Given the description of an element on the screen output the (x, y) to click on. 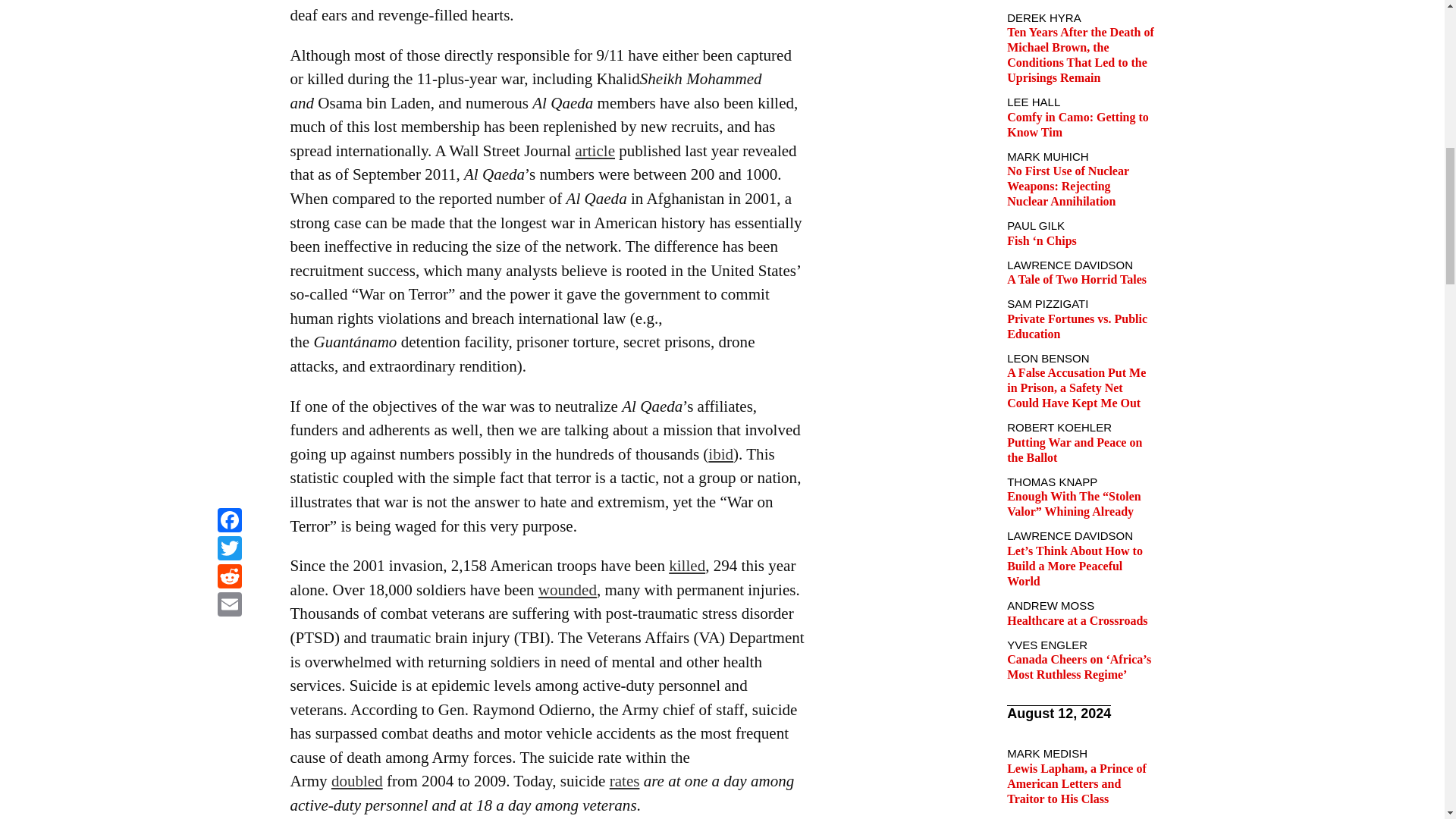
wounded (567, 589)
doubled (356, 781)
killed (686, 565)
article (594, 150)
ibid (720, 454)
rates (625, 781)
